Given the description of an element on the screen output the (x, y) to click on. 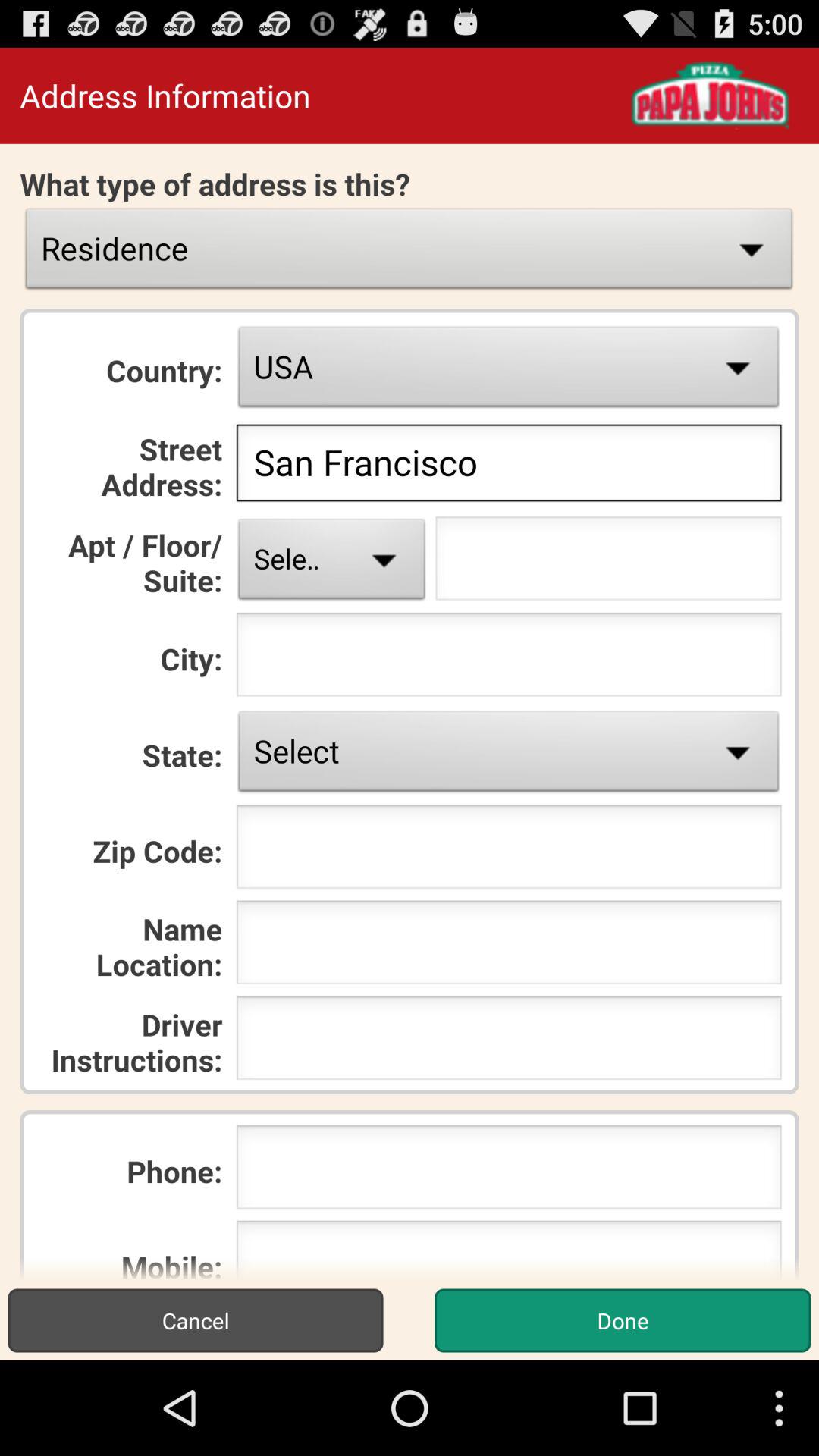
for units (608, 562)
